Given the description of an element on the screen output the (x, y) to click on. 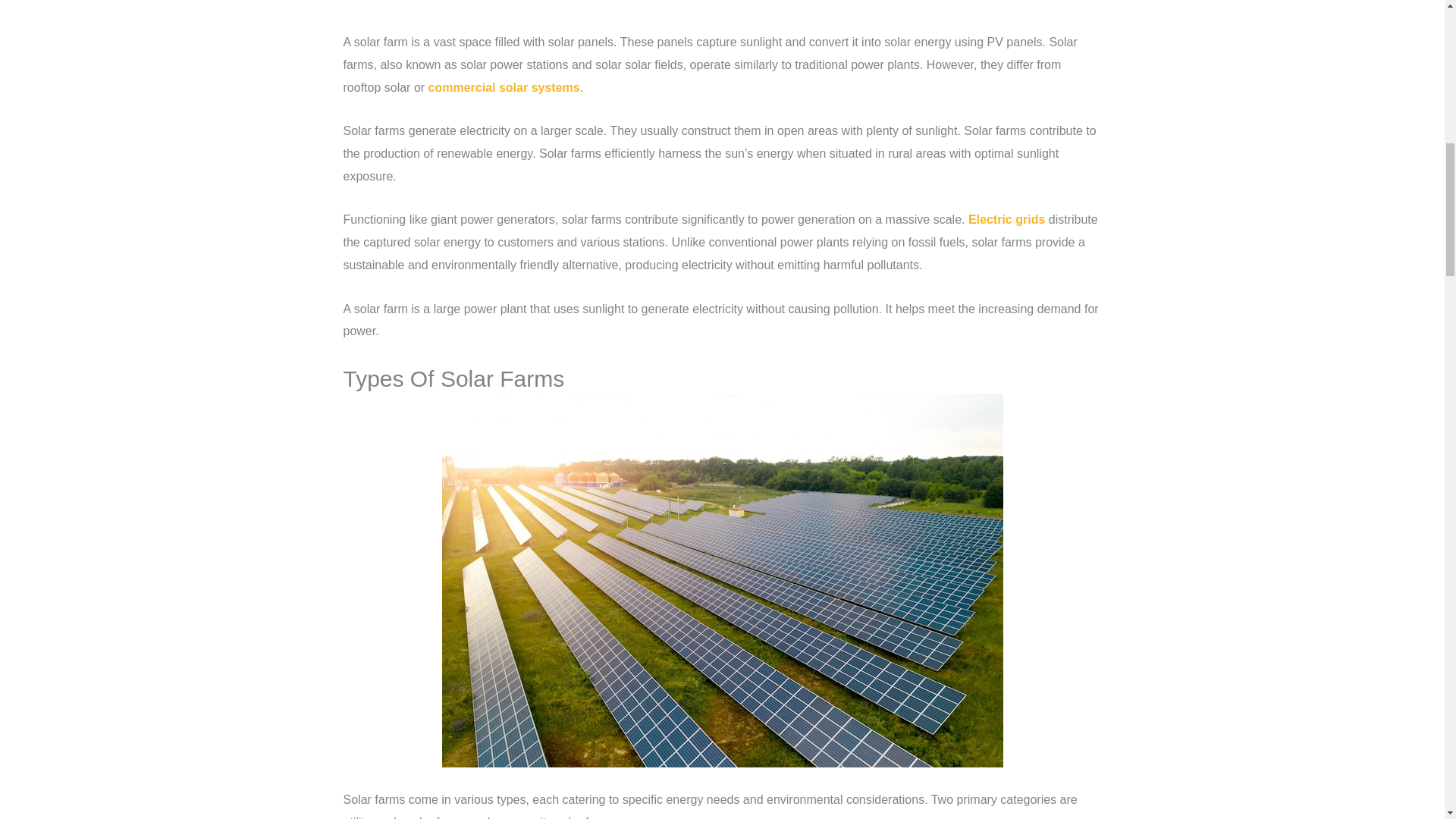
commercial solar systems (503, 87)
Electric grids (1006, 219)
